Given the description of an element on the screen output the (x, y) to click on. 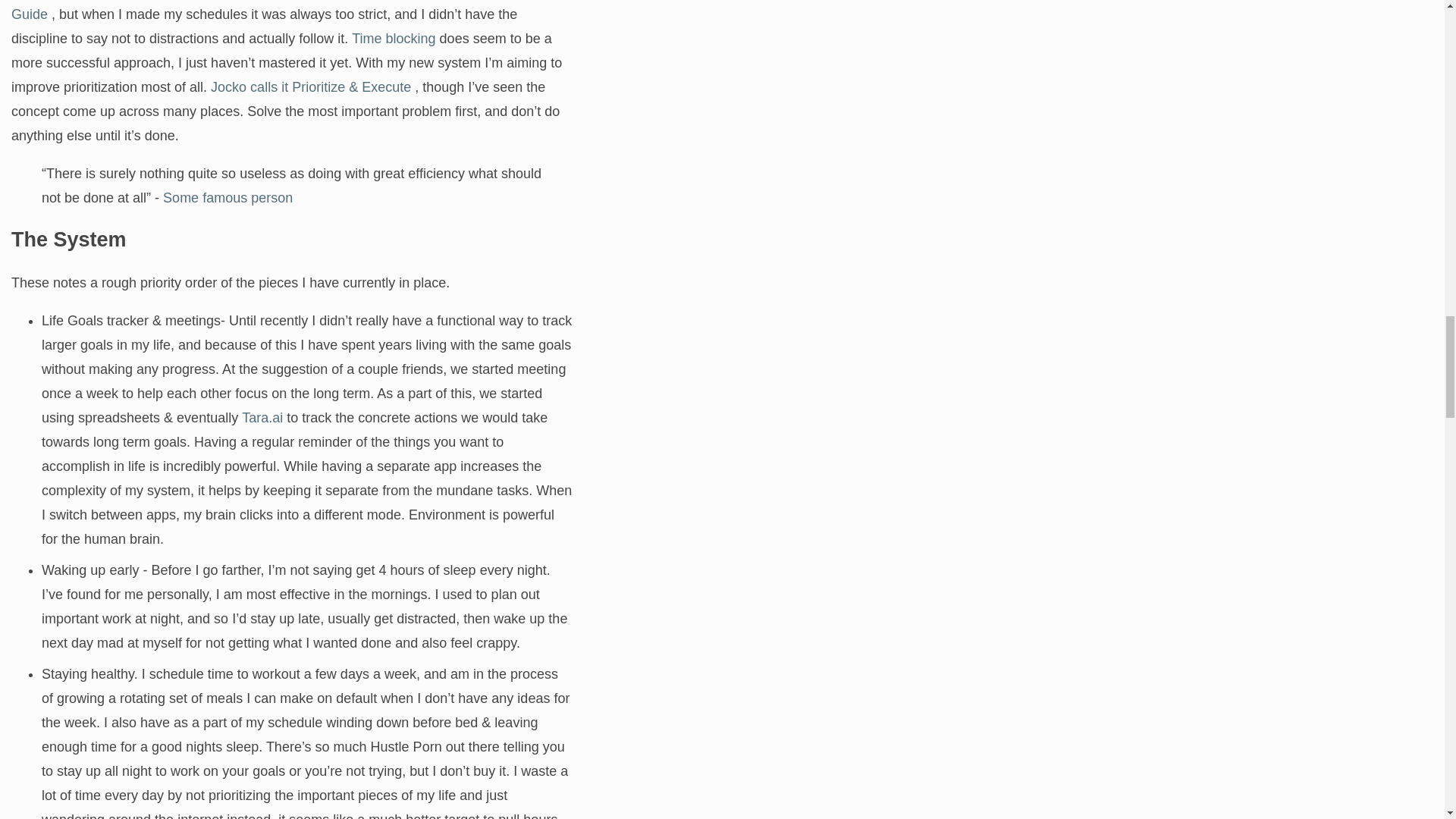
Tara.ai (261, 417)
Some famous person (227, 197)
Tara.ai (261, 417)
Some famous person (227, 197)
Time blocking (393, 38)
Time blocking (393, 38)
